Given the description of an element on the screen output the (x, y) to click on. 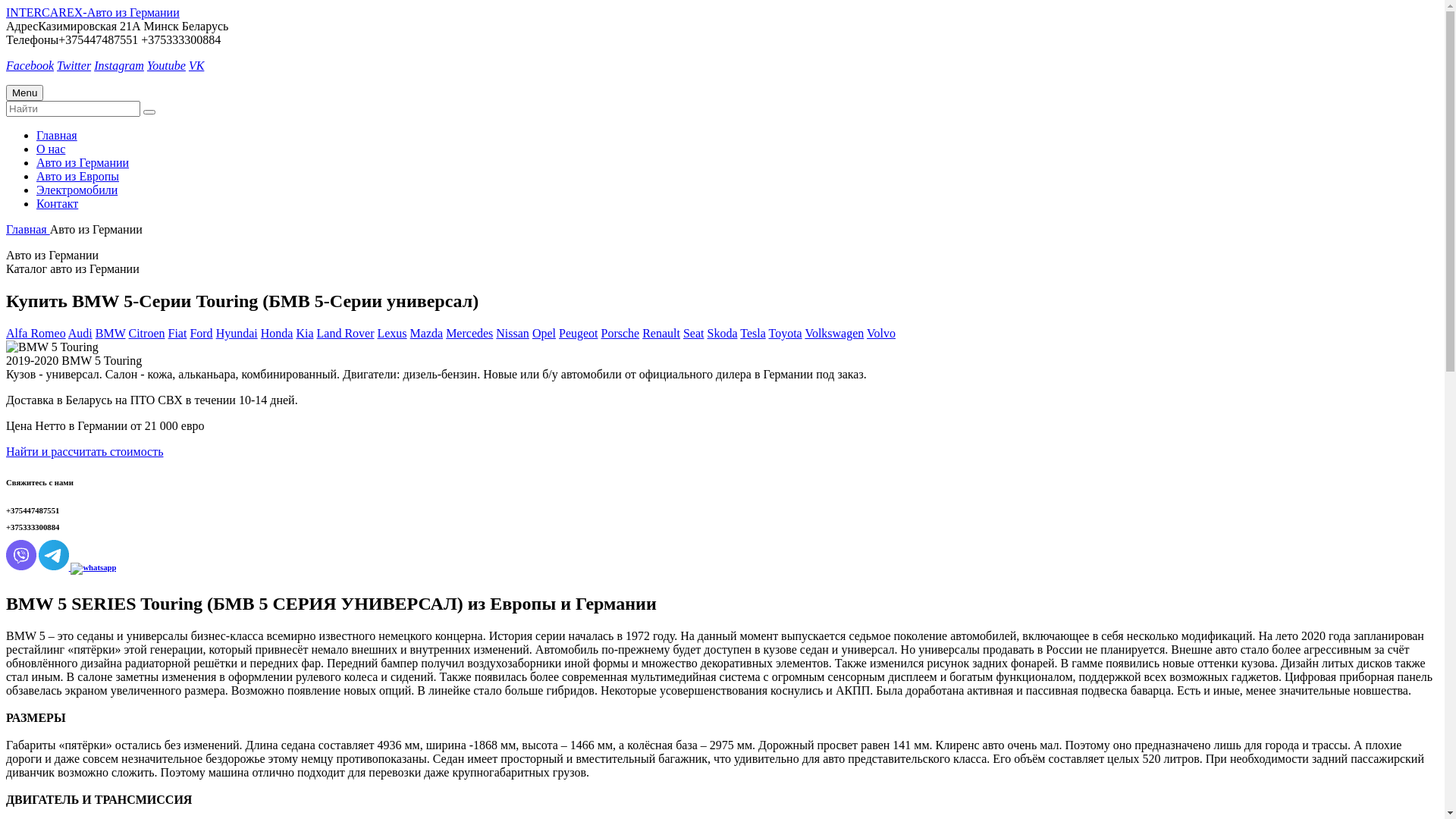
Citroen Element type: text (146, 332)
Mazda Element type: text (426, 332)
BMW Element type: text (110, 332)
Skoda Element type: text (721, 332)
Opel Element type: text (543, 332)
Honda Element type: text (276, 332)
Nissan Element type: text (512, 332)
Renault Element type: text (661, 332)
Menu Element type: text (24, 92)
Toyota Element type: text (784, 332)
Peugeot Element type: text (578, 332)
Porsche Element type: text (620, 332)
Instagram Element type: text (119, 65)
Audi Element type: text (80, 332)
Mercedes Element type: text (468, 332)
Volkswagen Element type: text (833, 332)
Facebook Element type: text (29, 65)
Land Rover Element type: text (345, 332)
VK Element type: text (195, 65)
Ford Element type: text (200, 332)
Alfa Romeo Element type: text (35, 332)
Tesla Element type: text (752, 332)
Kia Element type: text (304, 332)
Youtube Element type: text (166, 65)
Lexus Element type: text (391, 332)
Volvo Element type: text (880, 332)
Fiat Element type: text (177, 332)
Seat Element type: text (693, 332)
Twitter Element type: text (73, 65)
Hyundai Element type: text (236, 332)
